Given the description of an element on the screen output the (x, y) to click on. 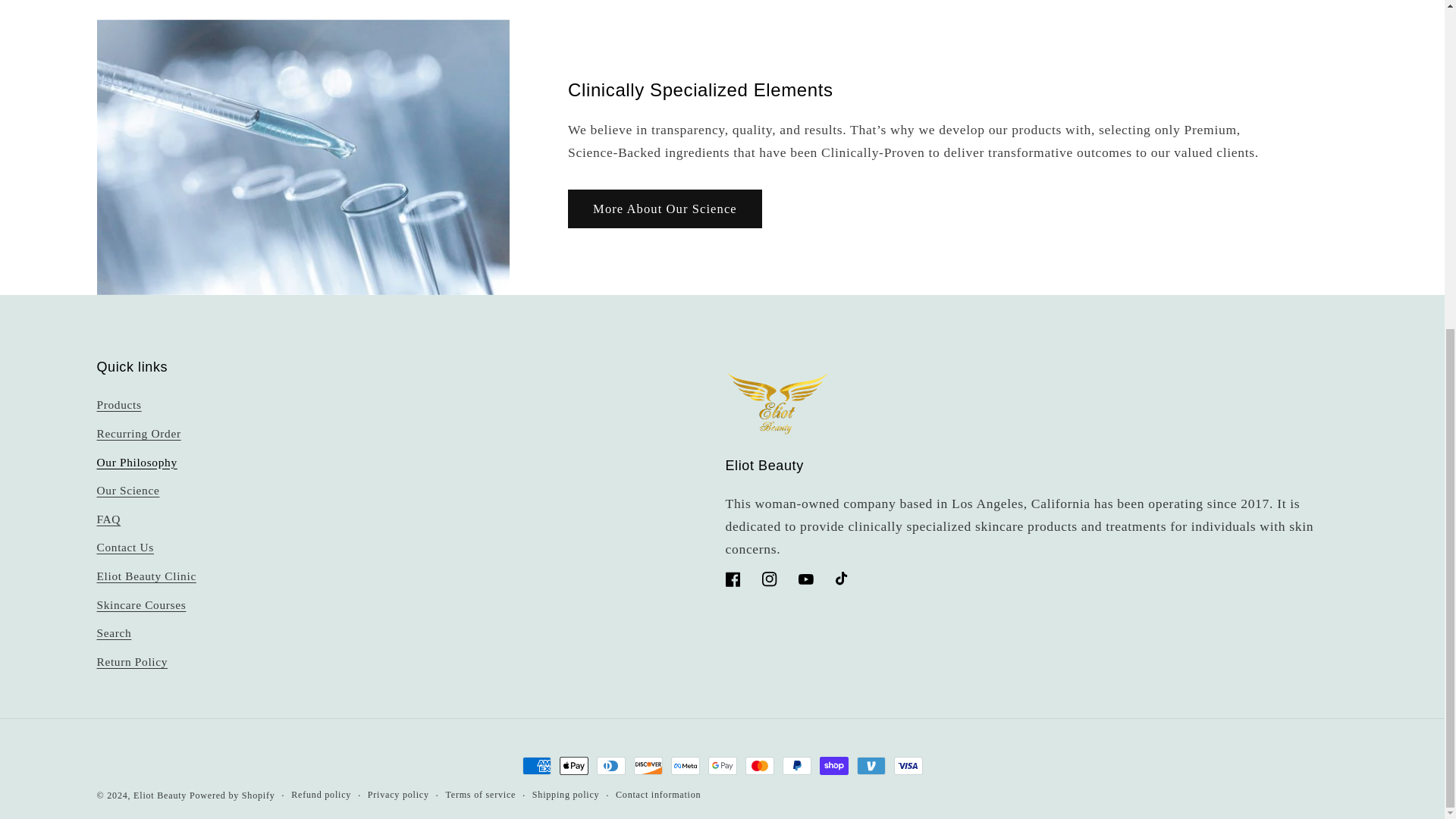
Eliot Beauty Clinic (146, 576)
Our Philosophy (137, 461)
Instagram (769, 579)
More About Our Science (664, 209)
YouTube (805, 579)
Recurring Order (138, 434)
Our Science (128, 491)
Search (114, 633)
Facebook (732, 579)
Contact Us (125, 547)
Products (119, 406)
Return Policy (132, 661)
Skincare Courses (141, 604)
